Given the description of an element on the screen output the (x, y) to click on. 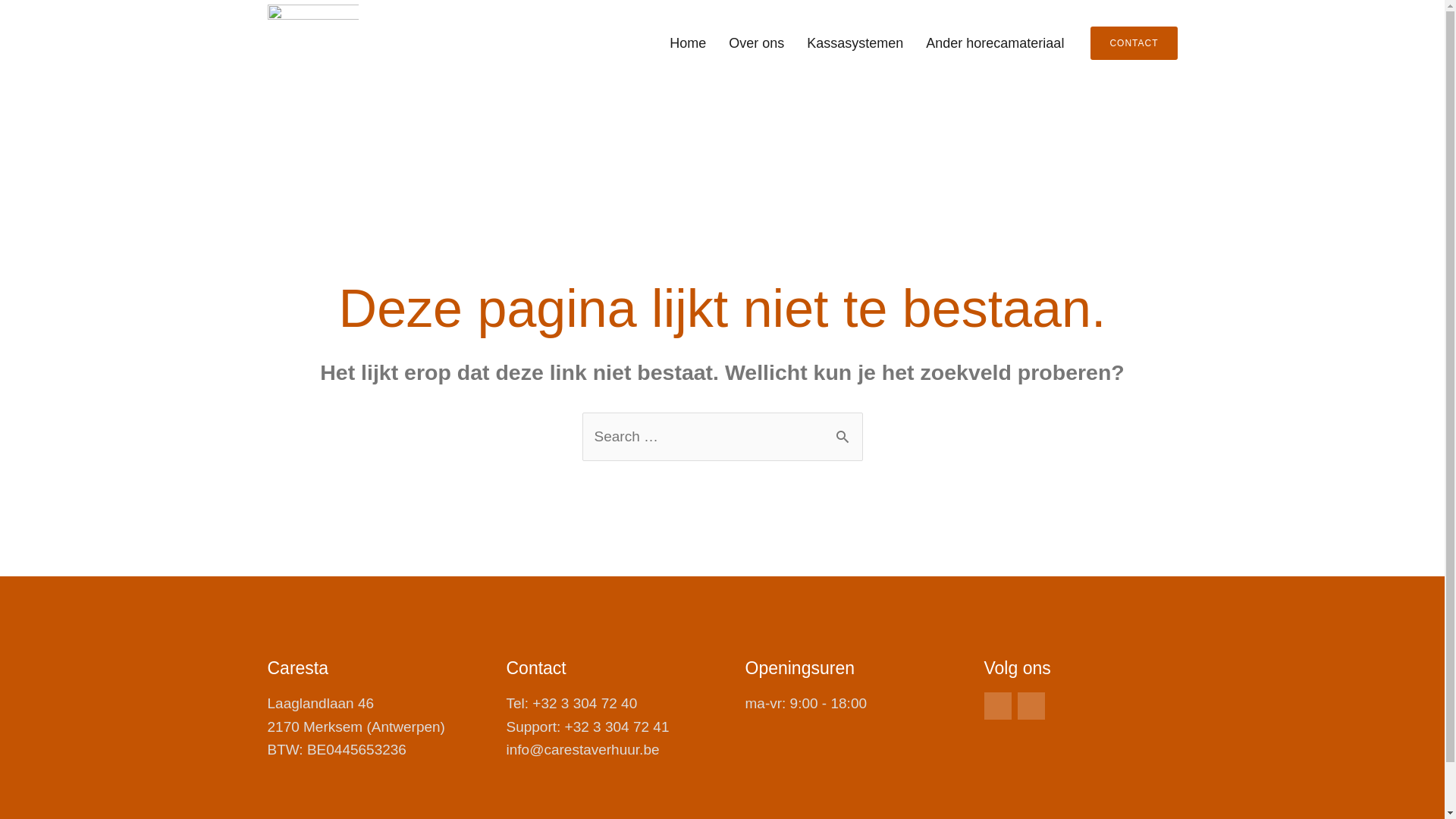
Kassasystemen Element type: text (854, 43)
Ander horecamateriaal Element type: text (994, 43)
Over ons Element type: text (756, 43)
CONTACT Element type: text (1133, 42)
Laaglandlaan 46
2170 Merksem (Antwerpen) Element type: text (363, 715)
Tel: +32 3 304 72 40 Element type: text (602, 703)
Support: +32 3 304 72 41 Element type: text (602, 726)
info@carestaverhuur.be Element type: text (602, 749)
Zoeken Element type: text (845, 427)
Home Element type: text (687, 43)
